Given the description of an element on the screen output the (x, y) to click on. 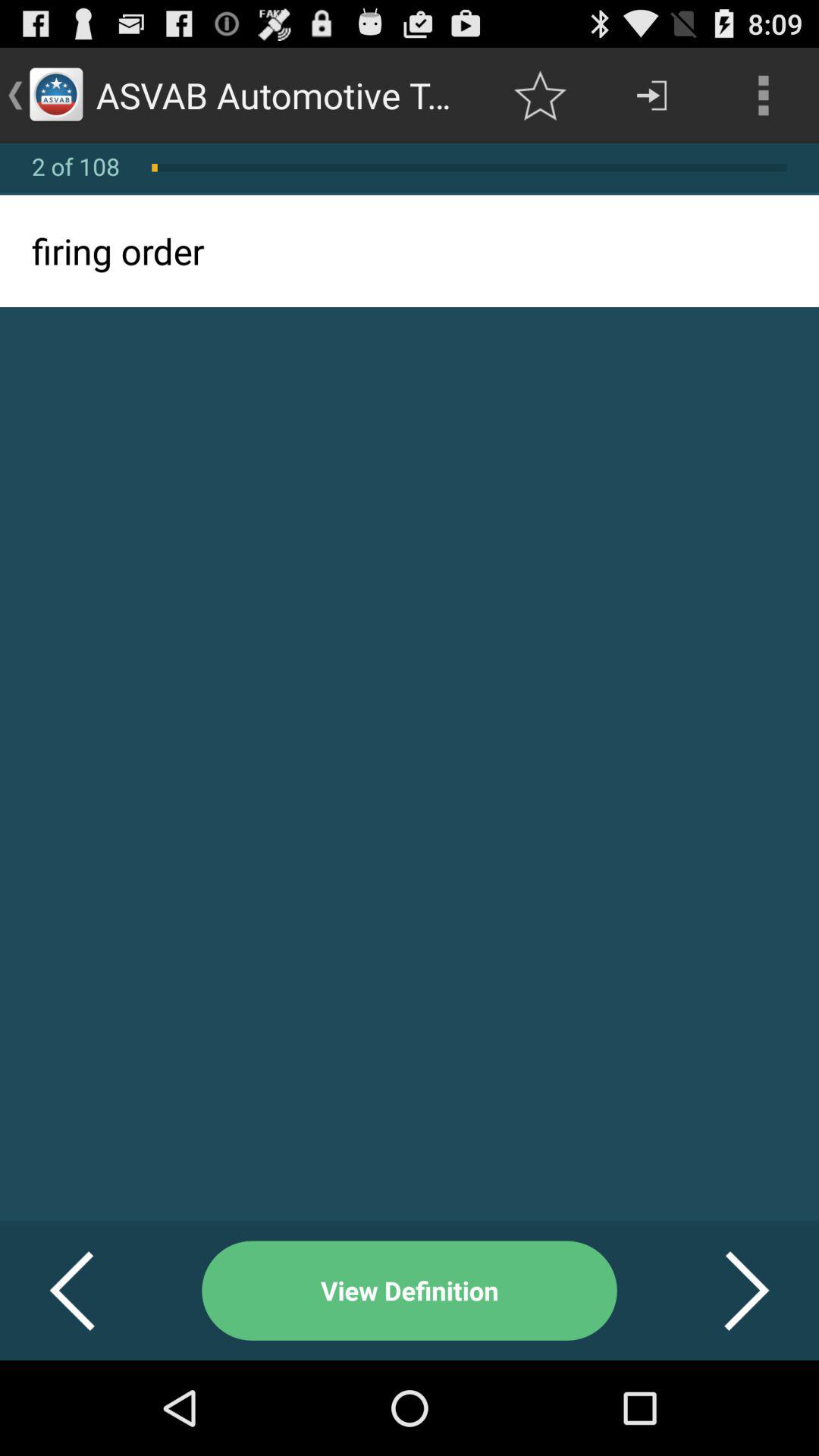
choose the button at the bottom (409, 1290)
